Given the description of an element on the screen output the (x, y) to click on. 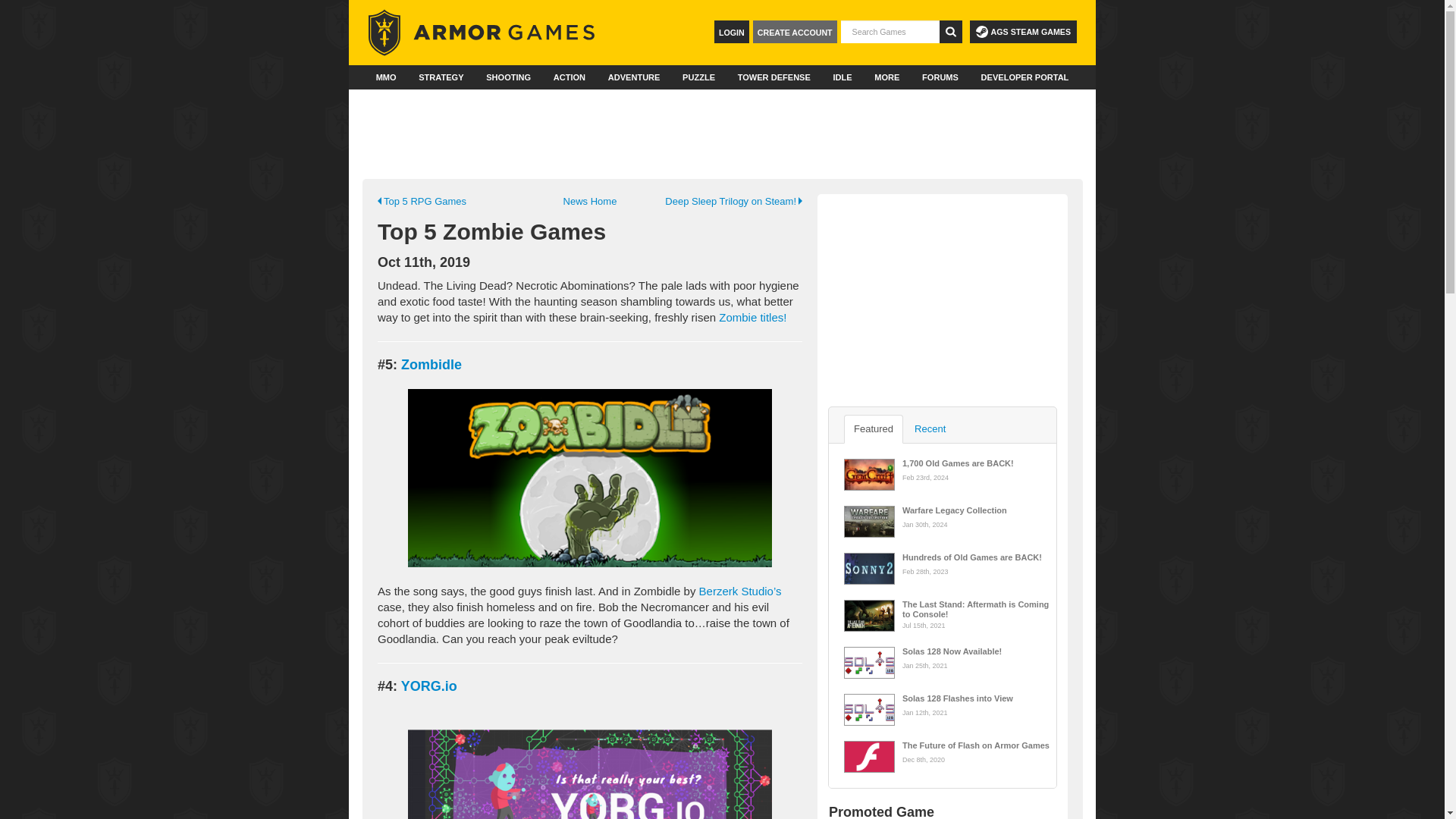
MORE (886, 77)
ADVENTURE (633, 77)
TOWER DEFENSE (773, 77)
1,700 Old Games are BACK! (978, 463)
SHOOTING (507, 77)
LOGIN (731, 31)
IDLE (842, 77)
ACTION (569, 77)
PUZZLE (698, 77)
News Home (589, 201)
DEVELOPER PORTAL (1024, 77)
Deep Sleep Trilogy on Steam! (718, 201)
CREATE ACCOUNT (794, 31)
Featured (873, 428)
Recent (929, 428)
